Given the description of an element on the screen output the (x, y) to click on. 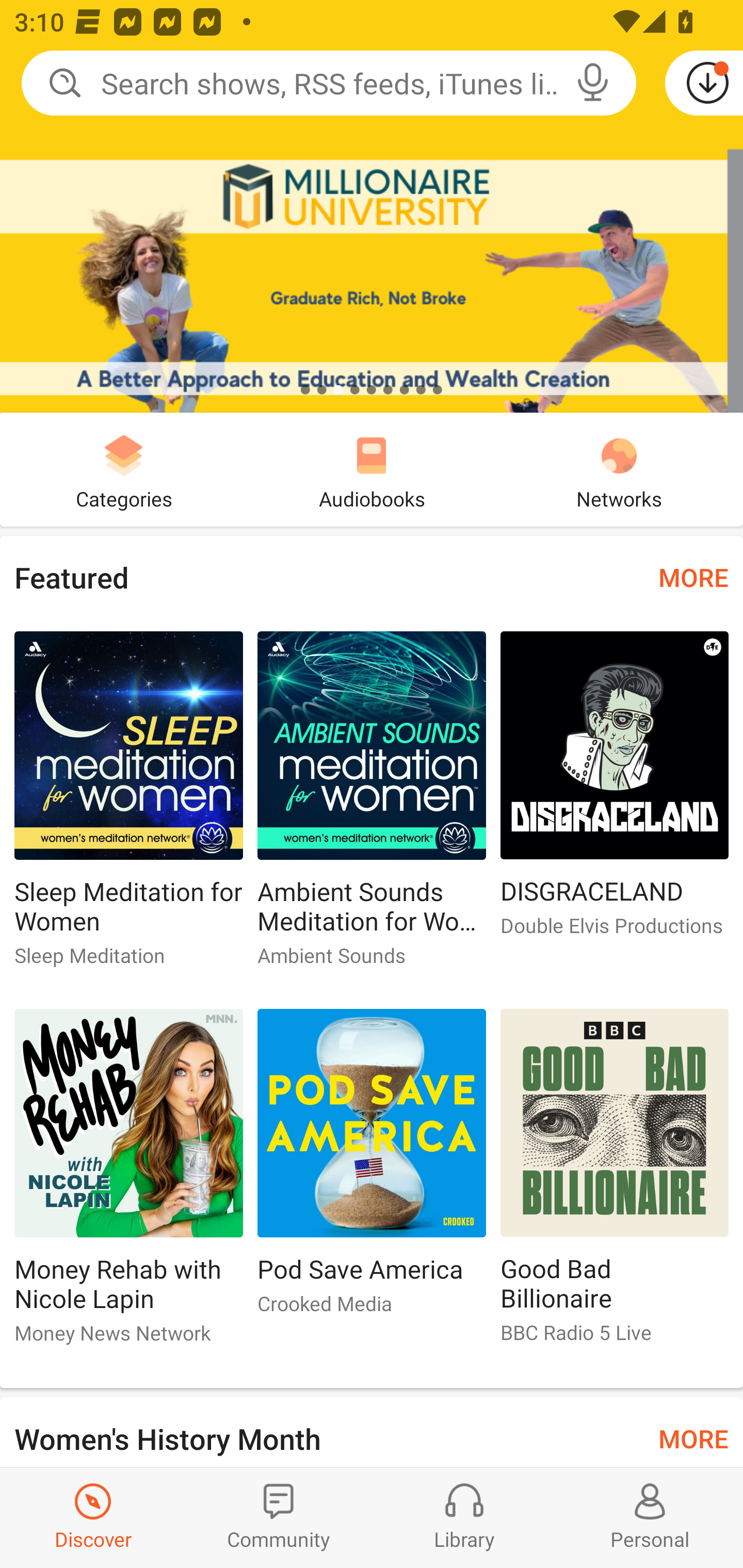
Millionaire University (371, 206)
Categories (123, 469)
Audiobooks (371, 469)
Networks (619, 469)
MORE (693, 576)
DISGRACELAND DISGRACELAND Double Elvis Productions (614, 792)
Pod Save America Pod Save America Crooked Media (371, 1169)
Discover (92, 1517)
Community (278, 1517)
Library (464, 1517)
Profiles and Settings Personal (650, 1517)
